Given the description of an element on the screen output the (x, y) to click on. 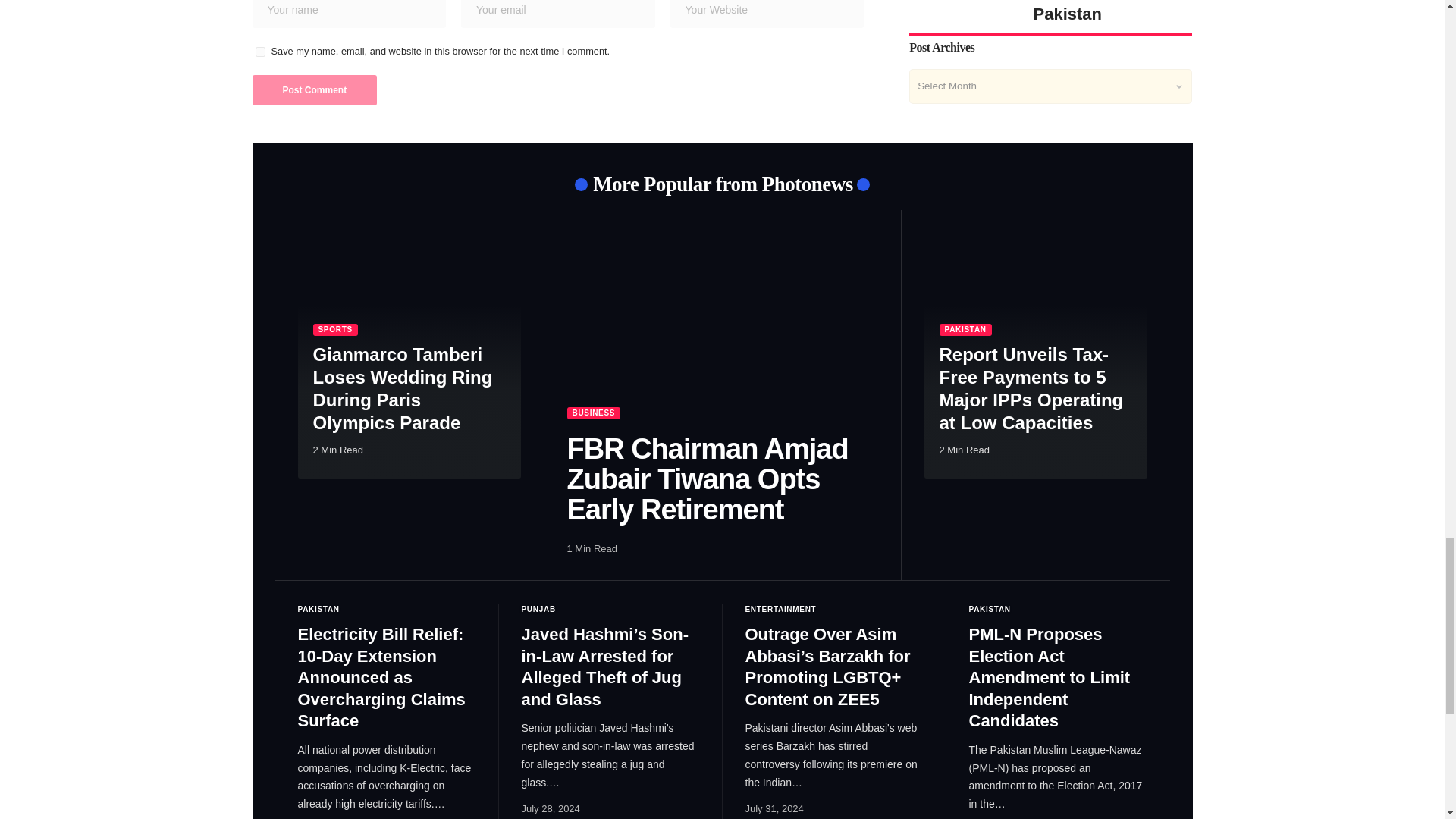
FBR Chairman Amjad Zubair Tiwana Opts Early Retirement (722, 325)
yes (259, 51)
Post Comment (314, 90)
